Given the description of an element on the screen output the (x, y) to click on. 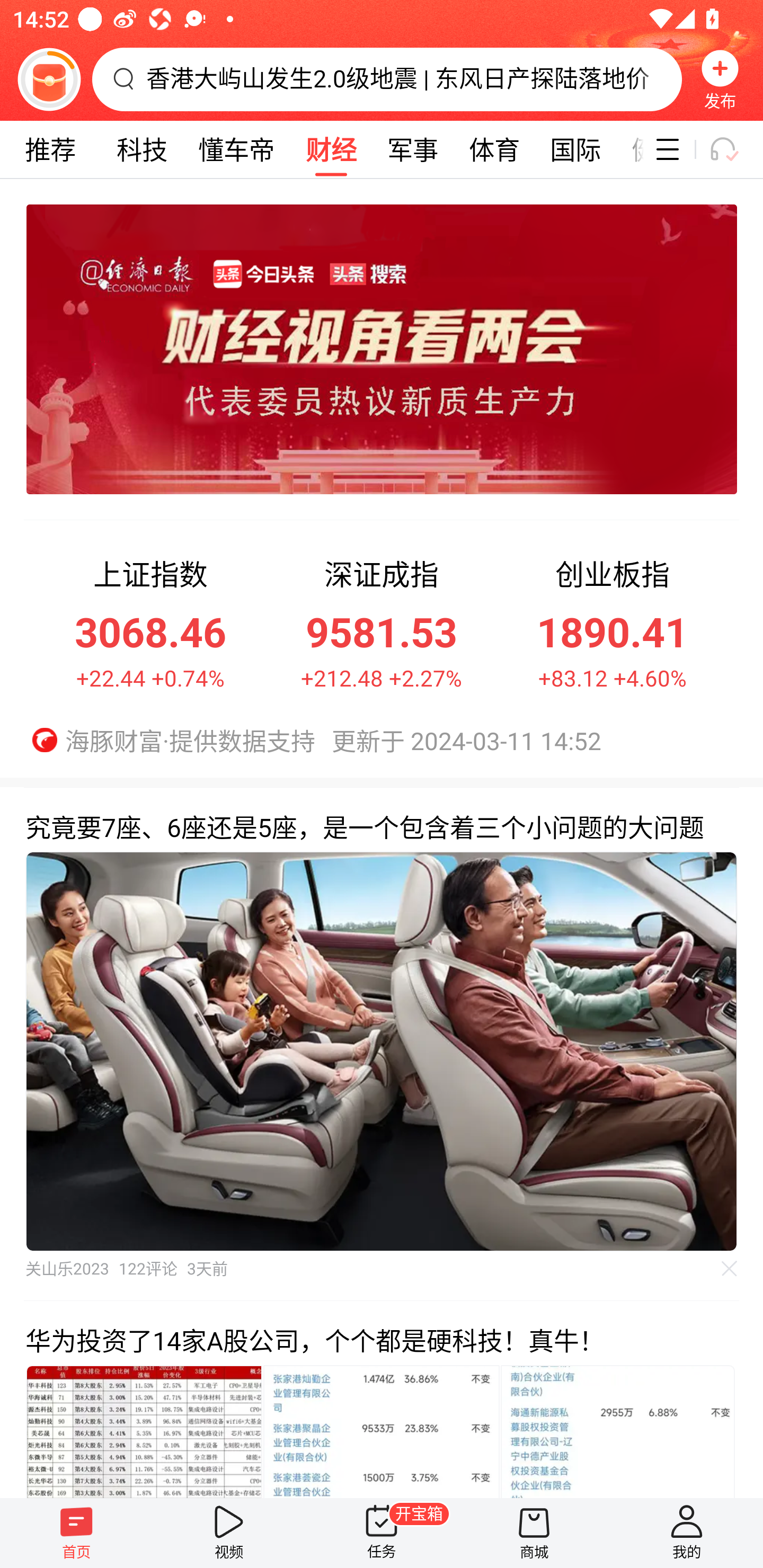
阅读赚金币 (48, 79)
发布 发布，按钮 (720, 78)
推荐 (49, 149)
科技 (141, 149)
懂车帝 (236, 149)
财经 (330, 149)
军事 (412, 149)
体育 (493, 149)
国际 (574, 149)
听一听开关 (732, 149)
财经视角看两会 (368, 348)
上证指数,3068.46点 (150, 621)
深证成指,9581.53点 (381, 621)
创业板指,1890.41点 (612, 621)
不感兴趣 (729, 1268)
三张内容图片 内容图片 内容图片 内容图片 (381, 1430)
内容图片 (381, 1430)
内容图片 (617, 1430)
首页 (76, 1532)
视频 (228, 1532)
任务 开宝箱 (381, 1532)
商城 (533, 1532)
我的 (686, 1532)
